Given the description of an element on the screen output the (x, y) to click on. 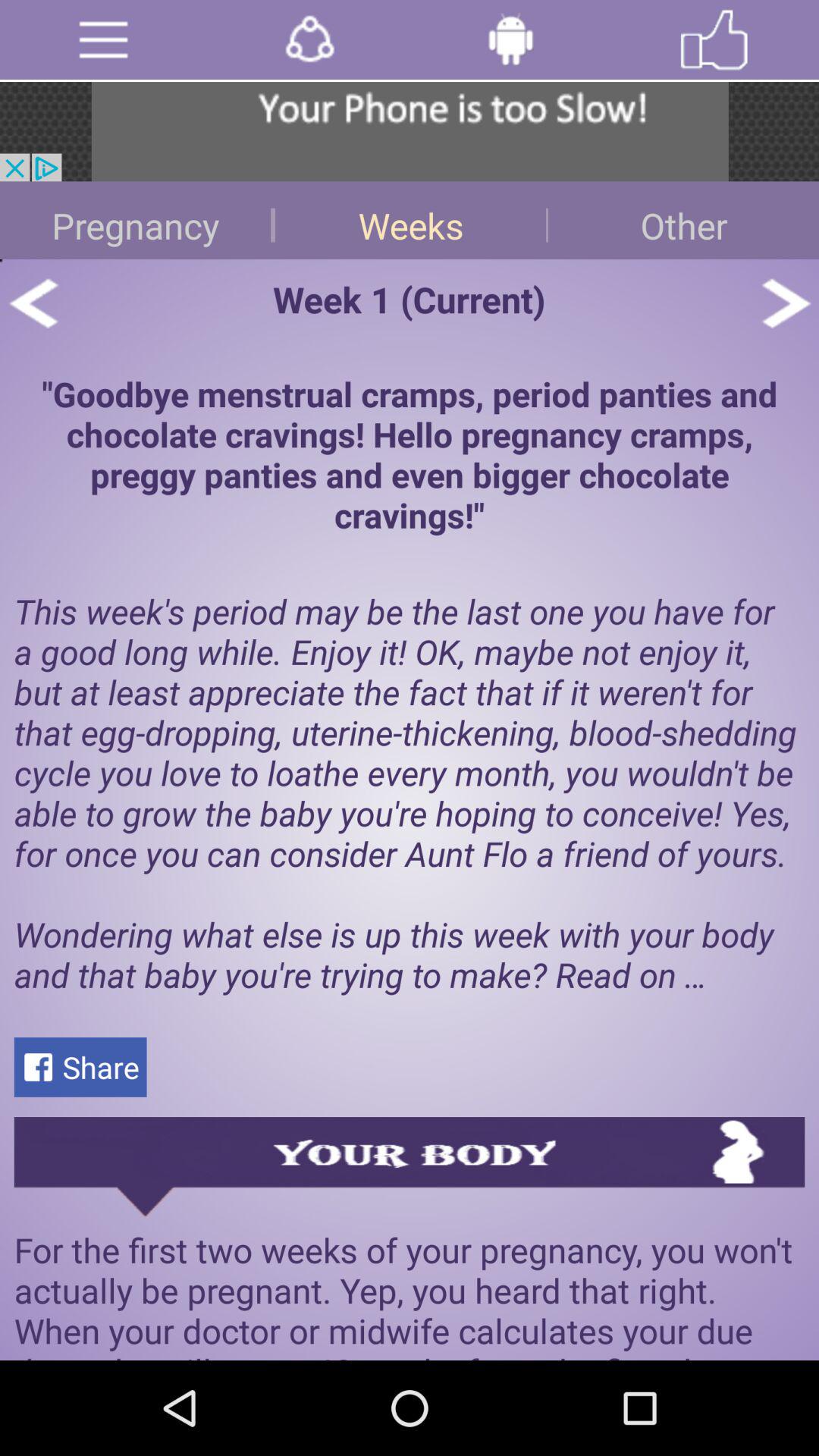
go back (33, 302)
